Given the description of an element on the screen output the (x, y) to click on. 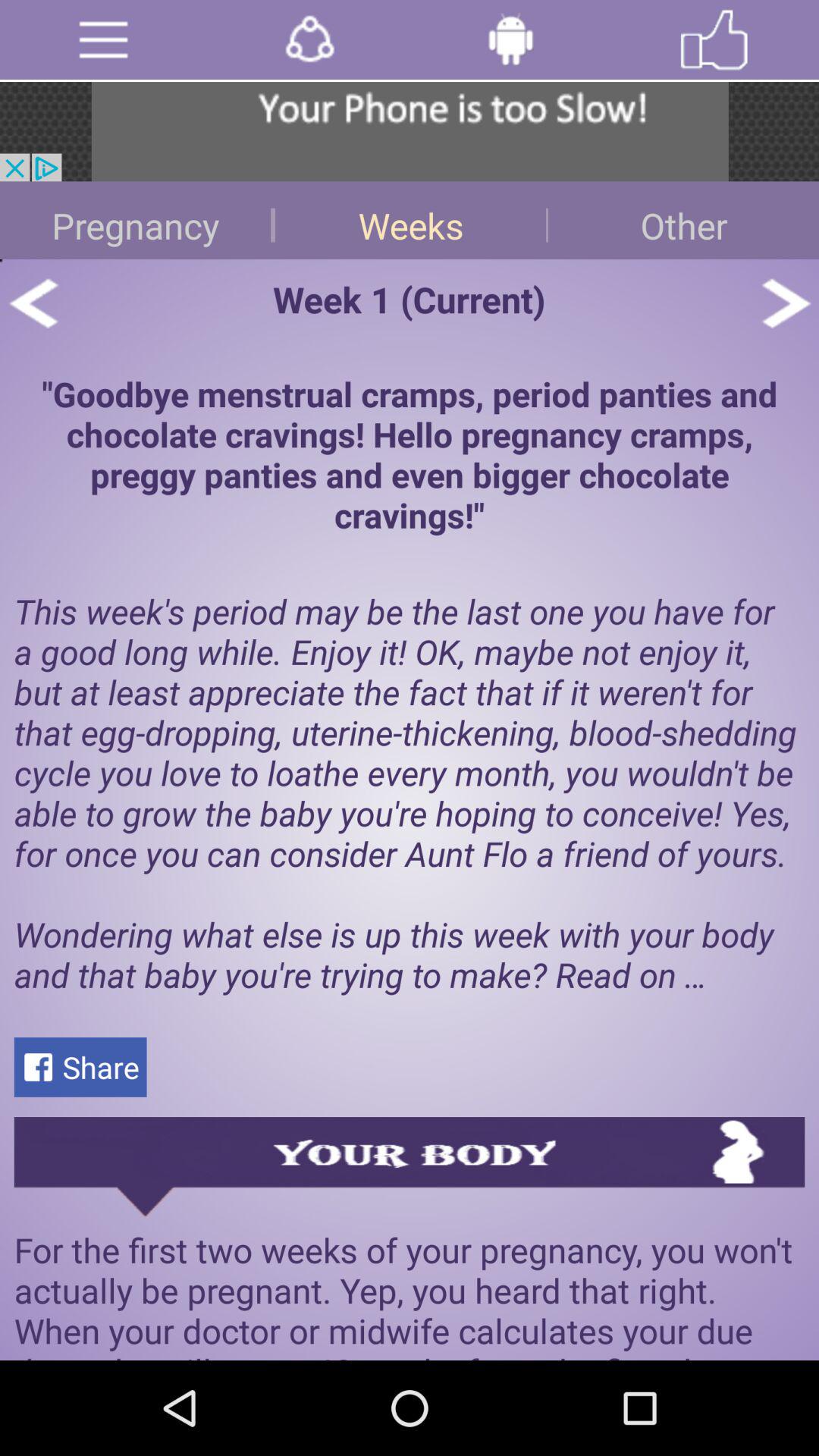
go back (33, 302)
